Given the description of an element on the screen output the (x, y) to click on. 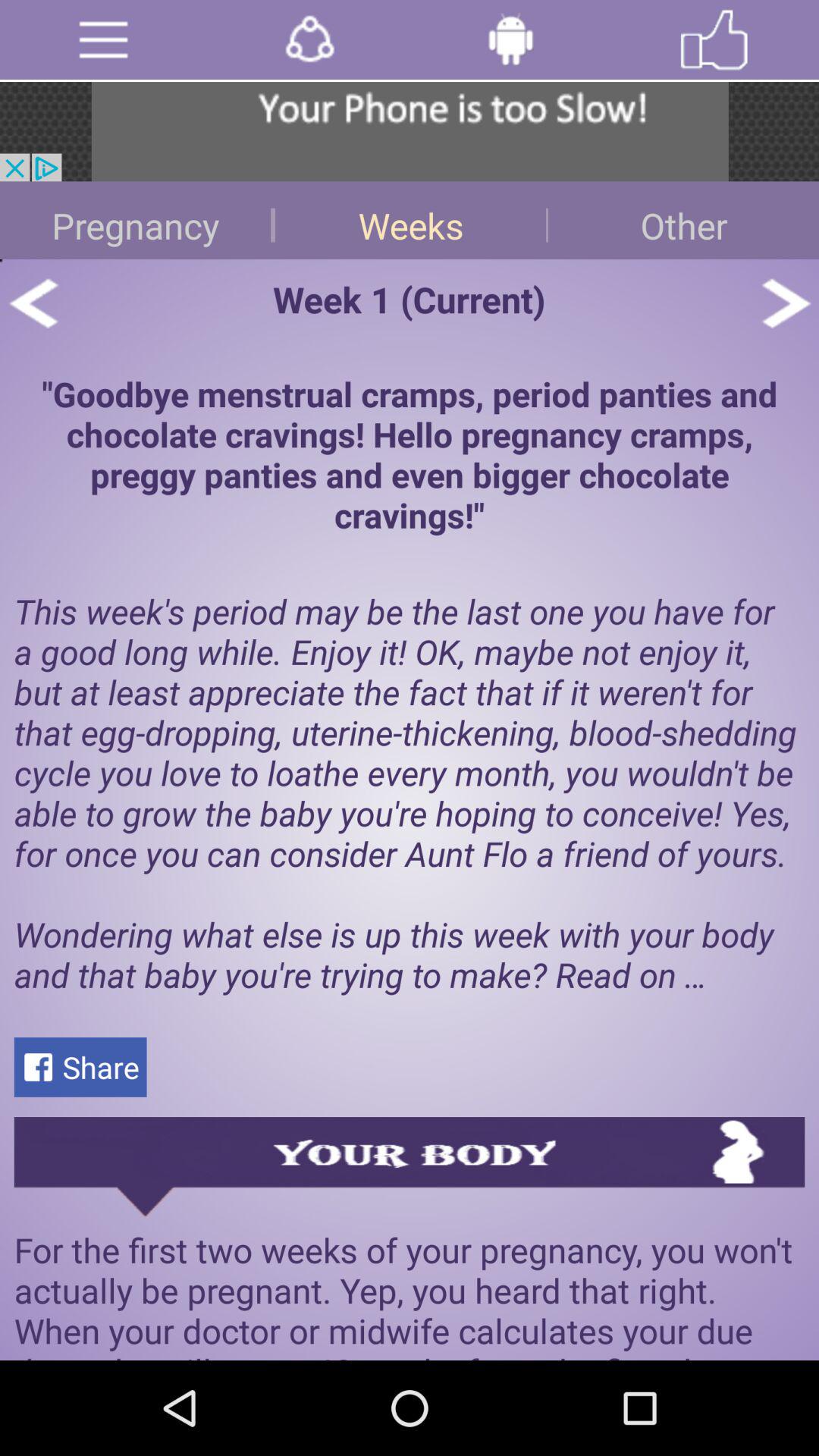
go back (33, 302)
